Given the description of an element on the screen output the (x, y) to click on. 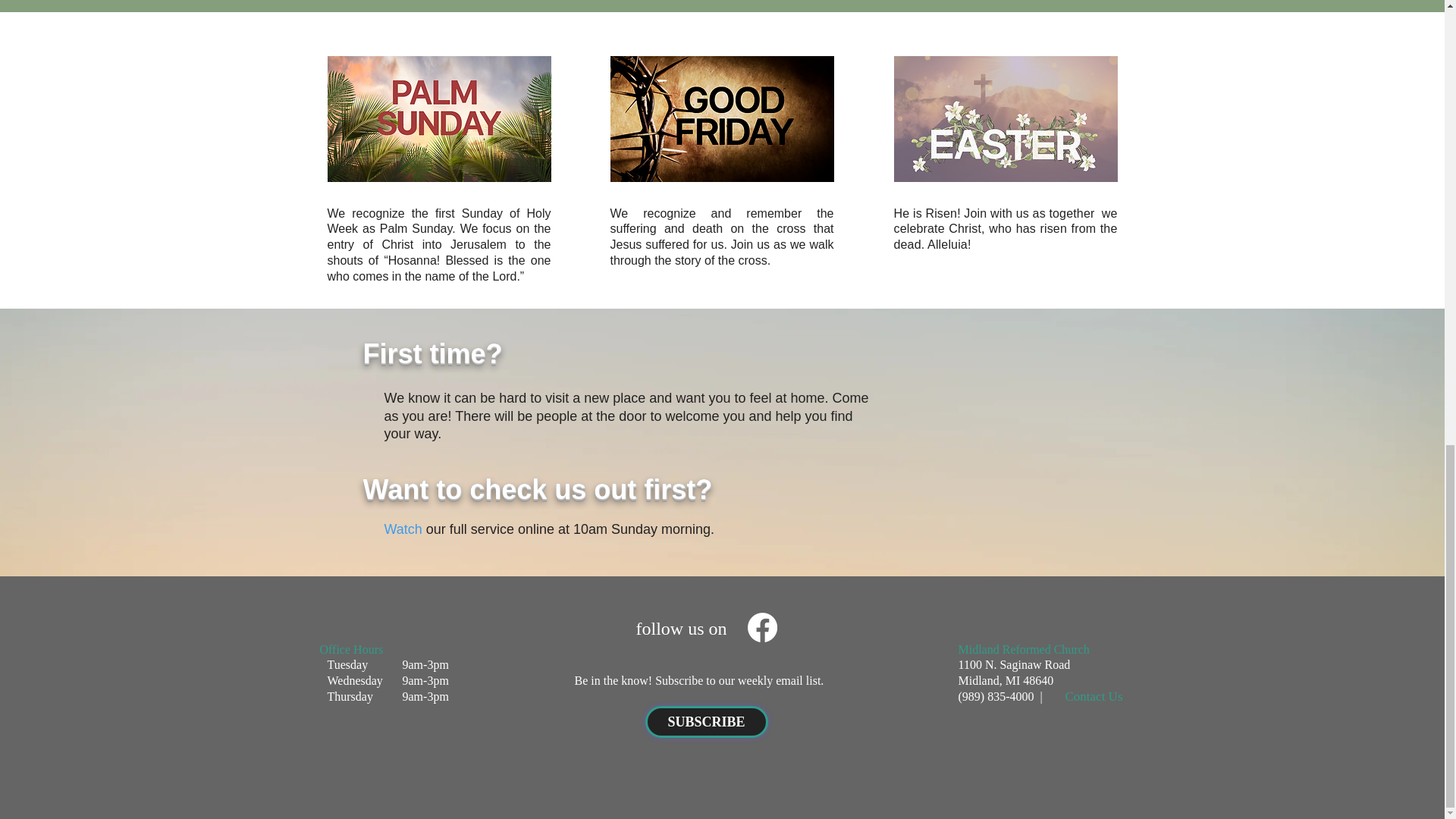
SUBSCRIBE (706, 721)
Contact Us (1094, 696)
Watch (403, 529)
